Given the description of an element on the screen output the (x, y) to click on. 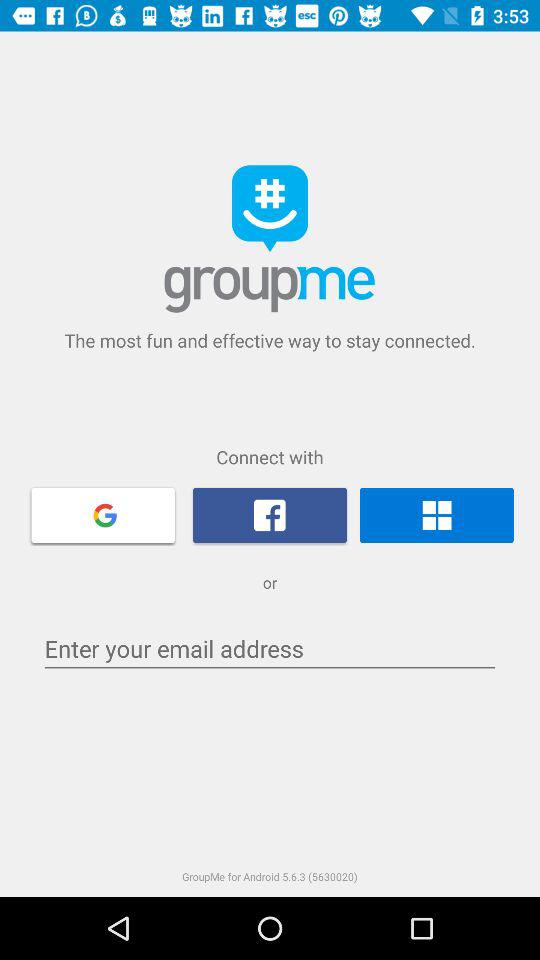
e-mail input (269, 648)
